Given the description of an element on the screen output the (x, y) to click on. 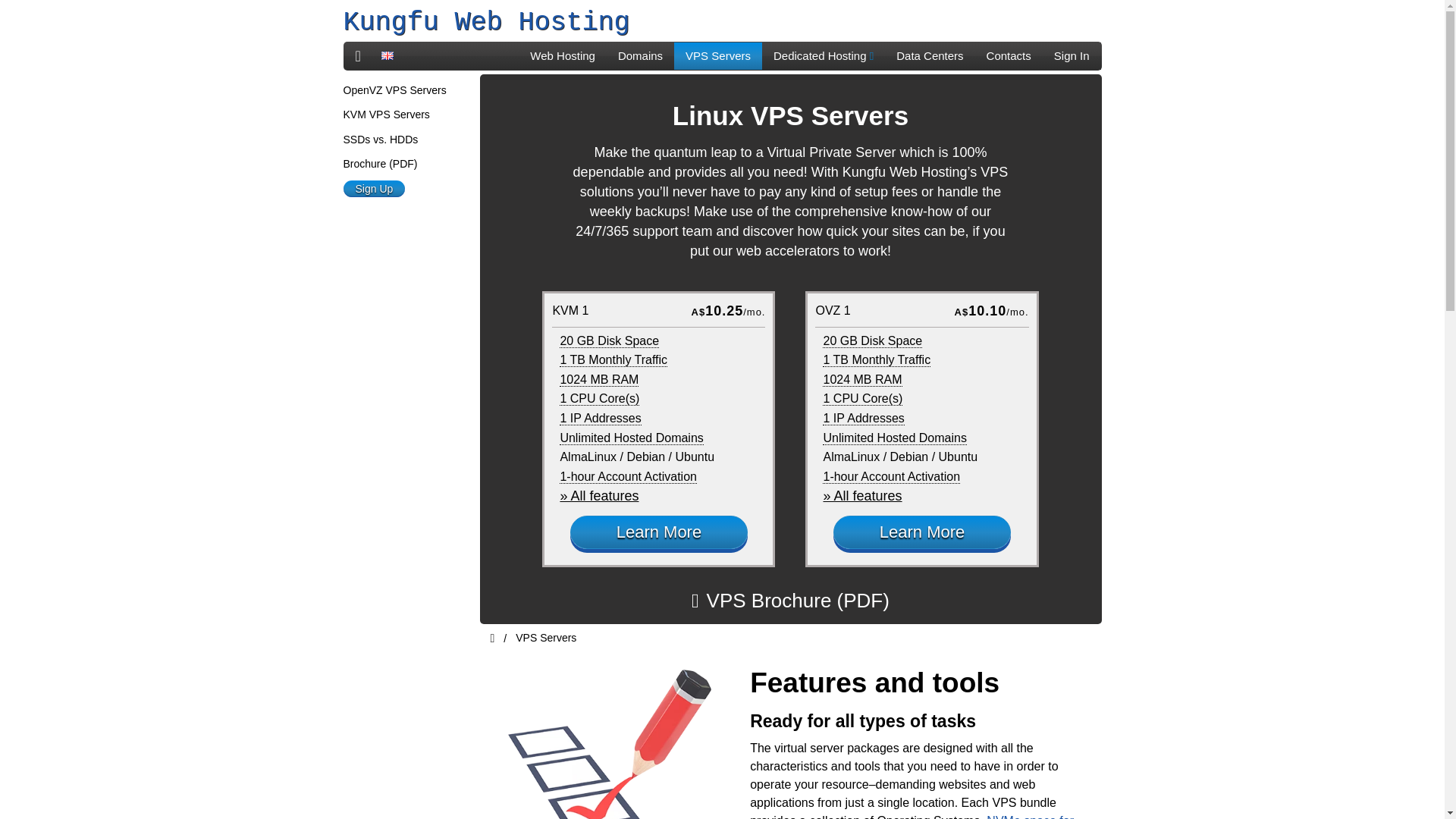
Domains (640, 55)
20 GB Disk Space (609, 340)
Learn More (659, 531)
Learn More (921, 531)
1 TB Monthly Traffic (612, 359)
VPS Hosting Brochure (790, 600)
Contacts (1008, 55)
Dedicated Hosting (823, 55)
Unlimited Hosted Domains (894, 437)
